Given the description of an element on the screen output the (x, y) to click on. 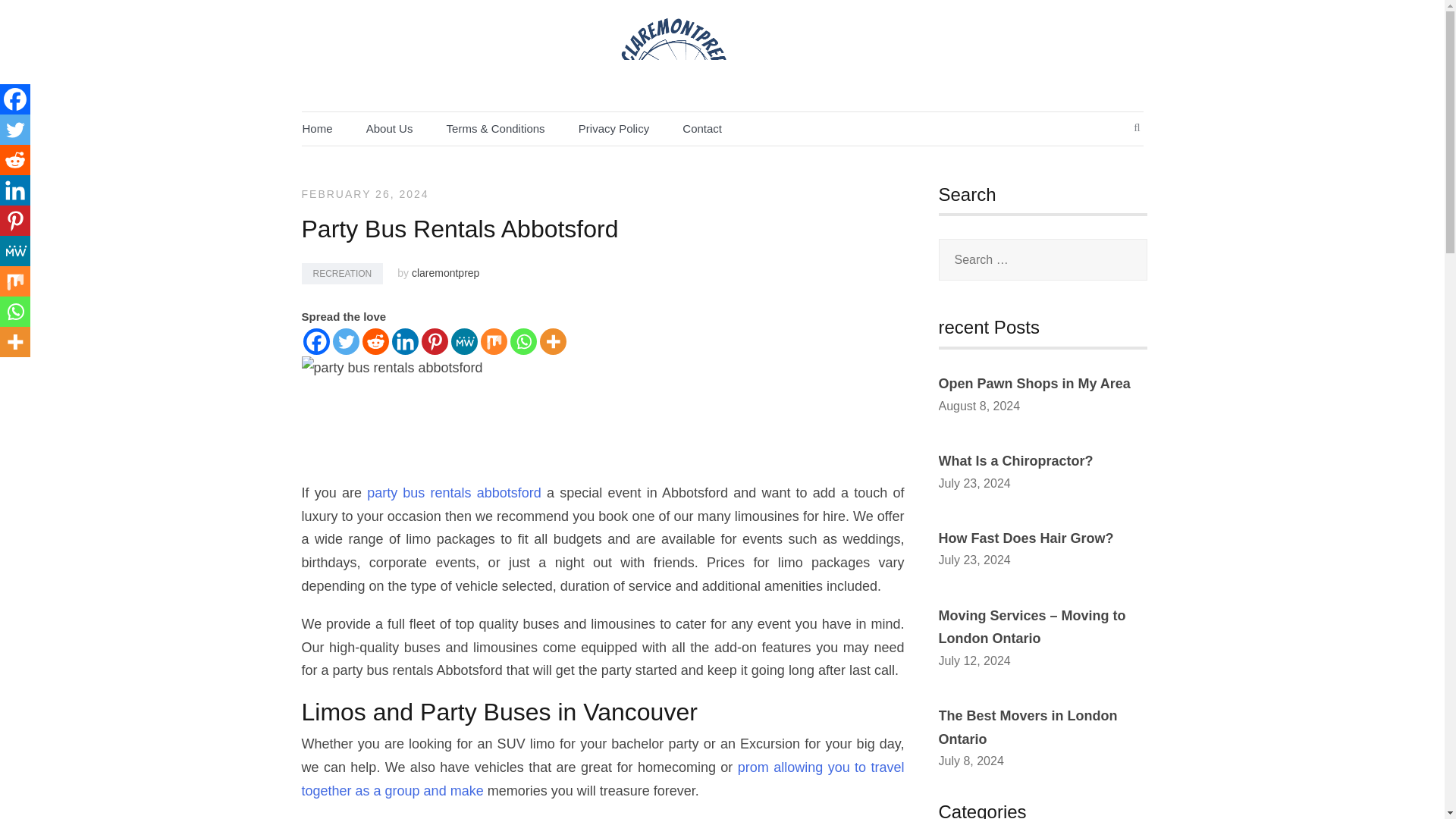
Linkedin (404, 341)
More (553, 341)
Pinterest (435, 341)
party bus rentals abbotsford (453, 492)
claremontprep (446, 272)
Whatsapp (522, 341)
Mix (493, 341)
FEBRUARY 26, 2024 (365, 193)
Linkedin (15, 190)
Privacy Policy (613, 128)
